Given the description of an element on the screen output the (x, y) to click on. 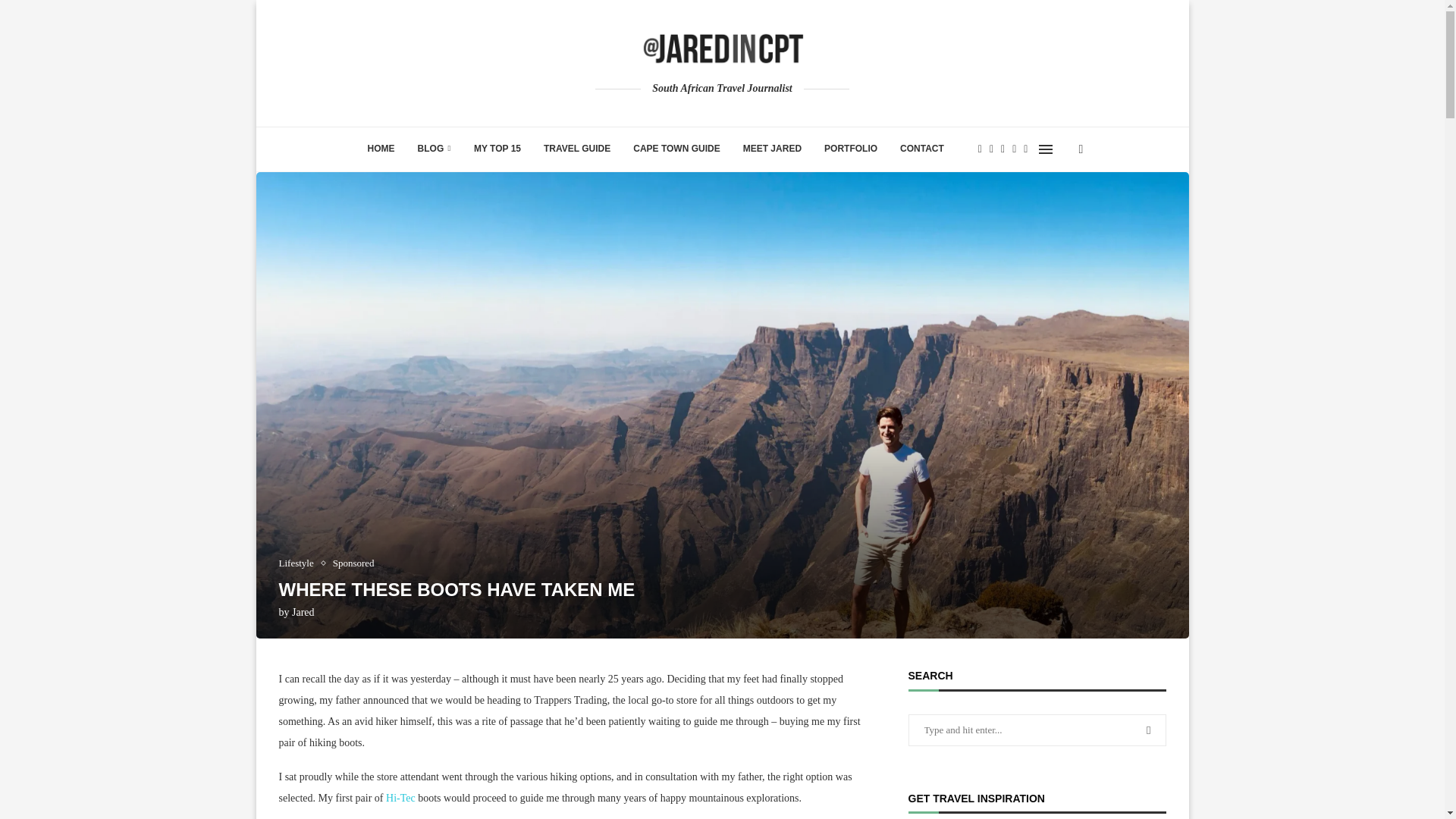
HOME (381, 148)
Sponsored (353, 563)
Hi-Tec (399, 797)
MEET JARED (772, 148)
BLOG (434, 148)
TRAVEL GUIDE (576, 148)
Lifestyle (300, 563)
CAPE TOWN GUIDE (675, 148)
PORTFOLIO (850, 148)
MY TOP 15 (497, 148)
CONTACT (921, 148)
Jared (303, 612)
